Given the description of an element on the screen output the (x, y) to click on. 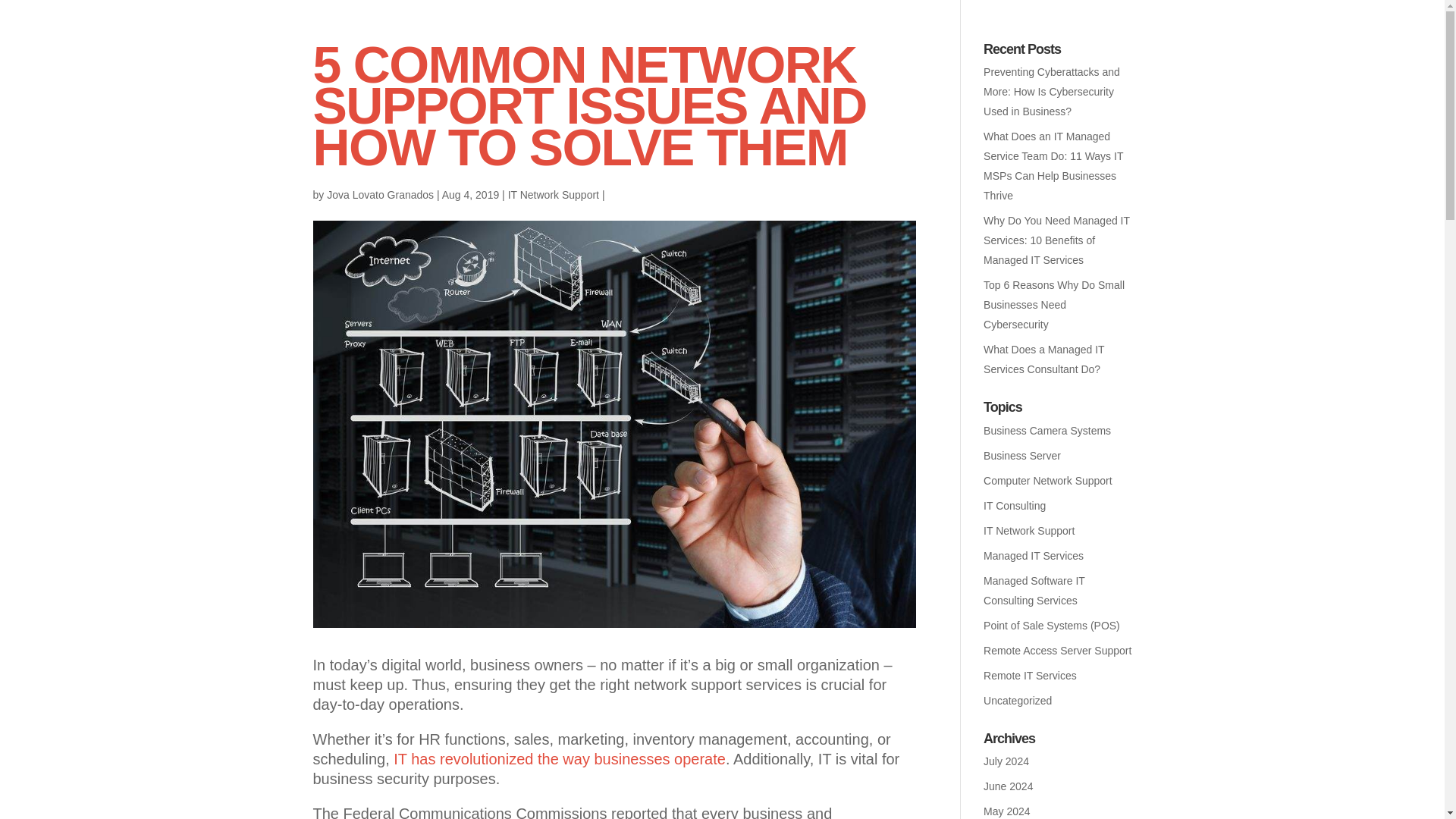
Computer Network Support (1048, 480)
Managed IT Services (1033, 555)
Jova Lovato Granados (379, 194)
IT Network Support (1029, 530)
Posts by Jova Lovato Granados (379, 194)
July 2024 (1006, 761)
June 2024 (1008, 786)
Remote IT Services (1030, 675)
May 2024 (1006, 811)
Remote Access Server Support (1057, 650)
Uncategorized (1017, 700)
IT Network Support (553, 194)
What Does a Managed IT Services Consultant Do? (1043, 359)
